Given the description of an element on the screen output the (x, y) to click on. 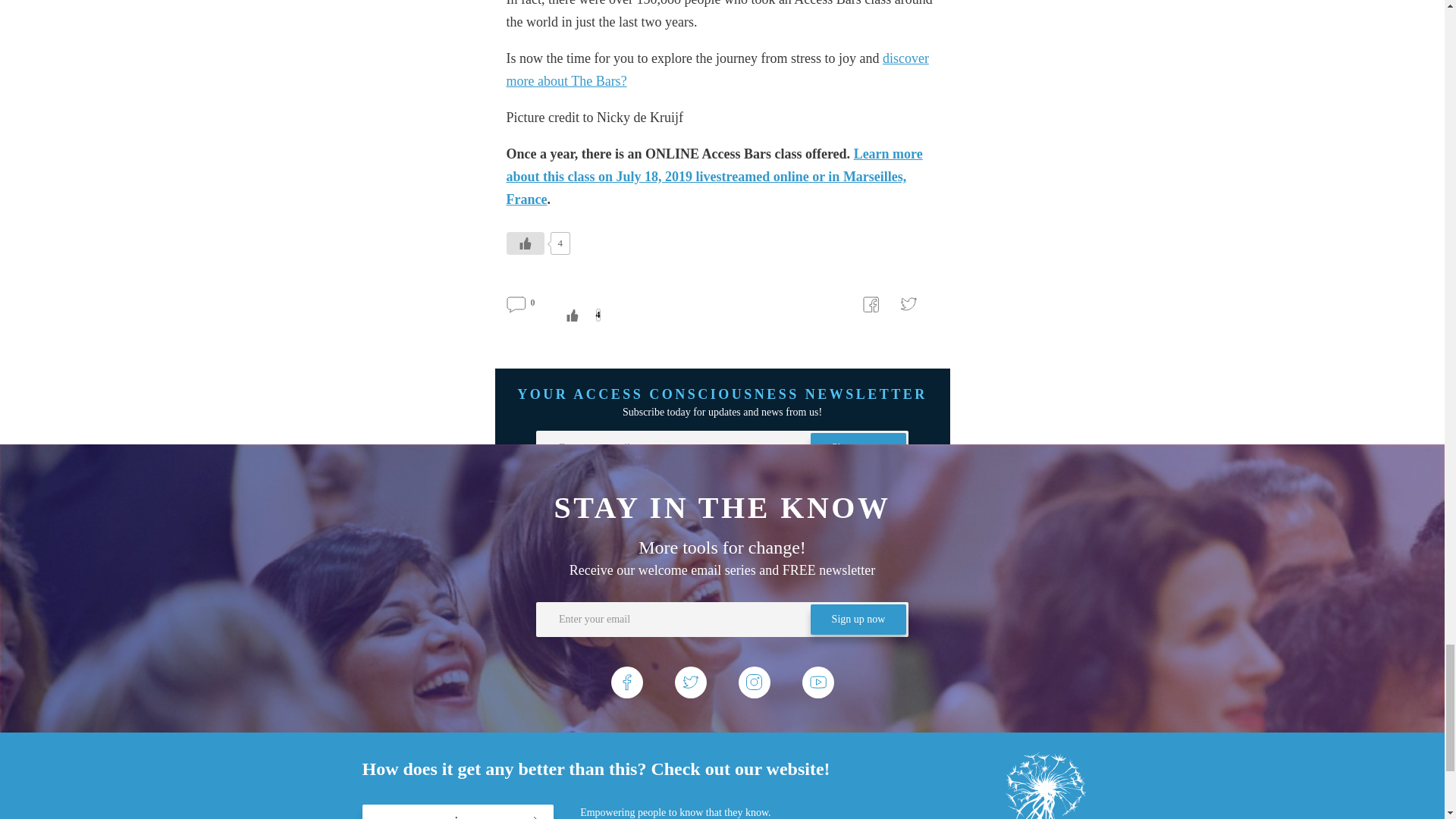
Twitter (909, 305)
Sign up now (857, 448)
Sign up now (857, 619)
www.accessconsciousness.com (458, 811)
Twitter (690, 682)
Sign up now (815, 806)
Sign up now (857, 619)
Facebook (627, 682)
YouTube (818, 682)
discover more about The Bars? (717, 69)
Instagram (754, 682)
Sign up now (815, 637)
Sign up now (857, 448)
